Given the description of an element on the screen output the (x, y) to click on. 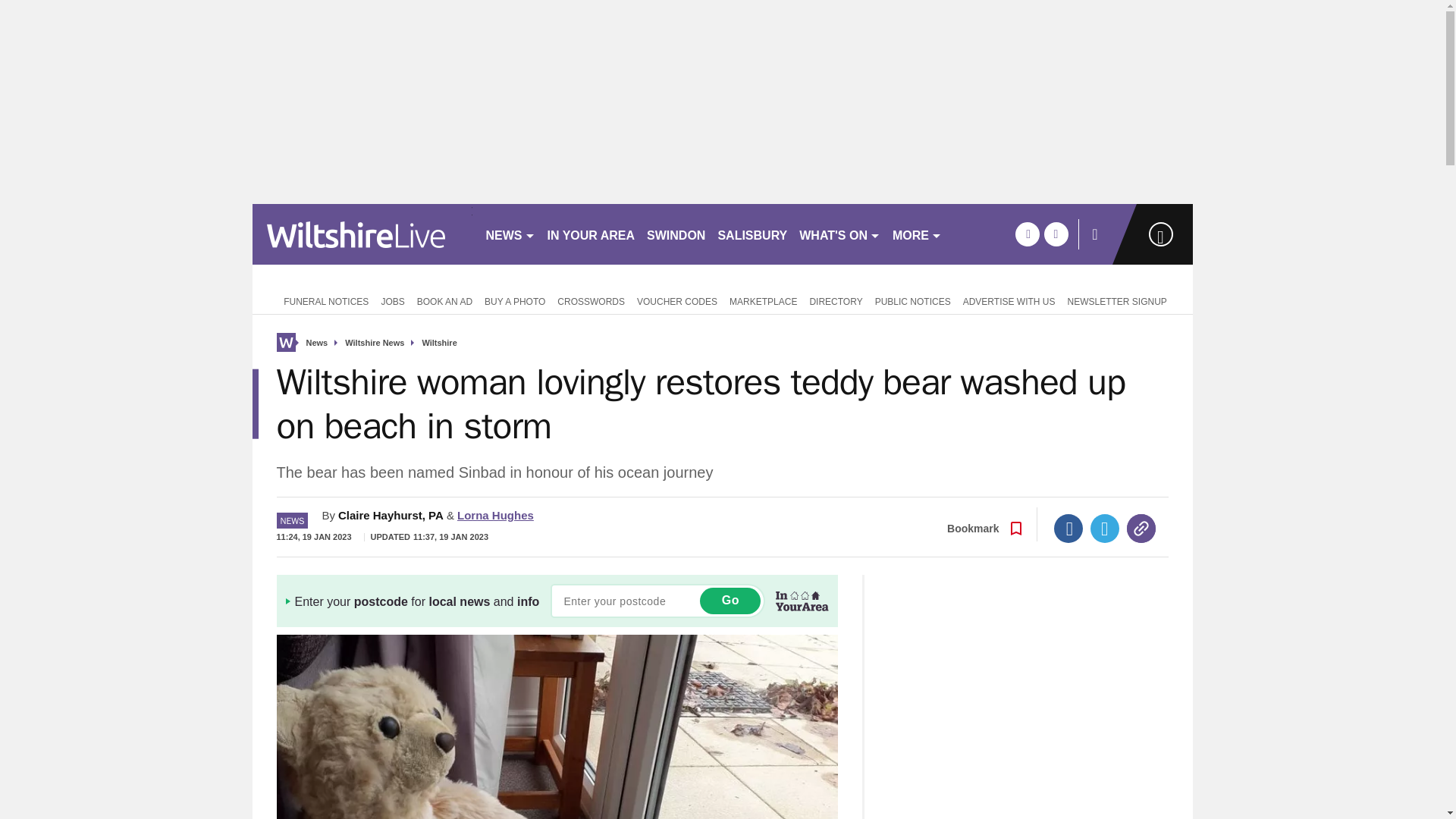
VOUCHER CODES (676, 300)
IN YOUR AREA (591, 233)
Facebook (1068, 528)
MARKETPLACE (763, 300)
WHAT'S ON (839, 233)
FUNERAL NOTICES (322, 300)
Twitter (1104, 528)
BUY A PHOTO (515, 300)
ADVERTISE WITH US (1008, 300)
SWINDON (675, 233)
NEWSLETTER SIGNUP (1116, 300)
wiltshirelive (361, 233)
twitter (1055, 233)
JOBS (392, 300)
MORE (916, 233)
